Given the description of an element on the screen output the (x, y) to click on. 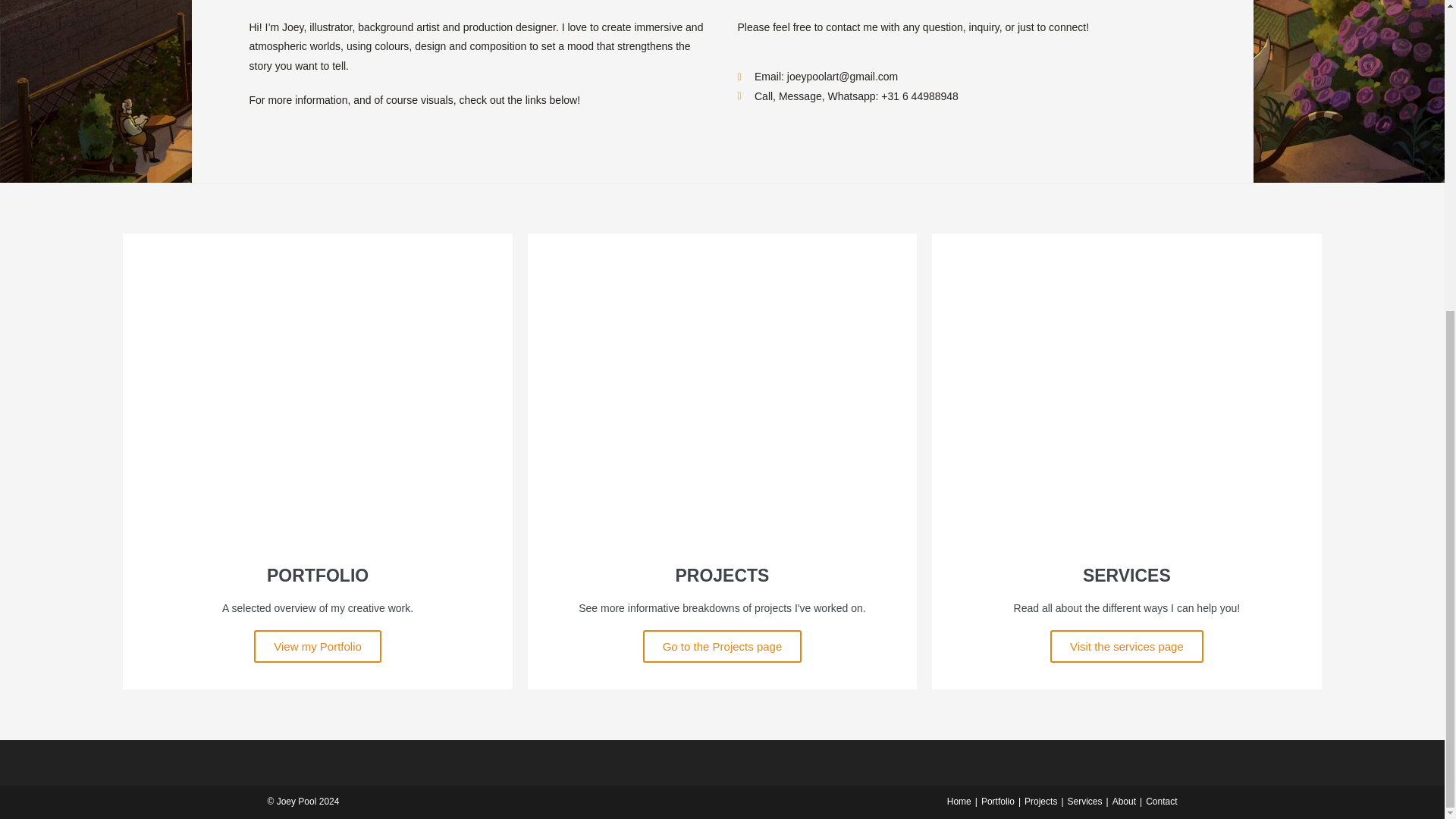
Go to the Projects page (722, 663)
View my Portfolio (317, 669)
Contact (1160, 801)
Home (959, 801)
Projects (1041, 801)
About (1123, 801)
Visit the services page (1126, 658)
Services (1084, 801)
Portfolio (997, 801)
